Given the description of an element on the screen output the (x, y) to click on. 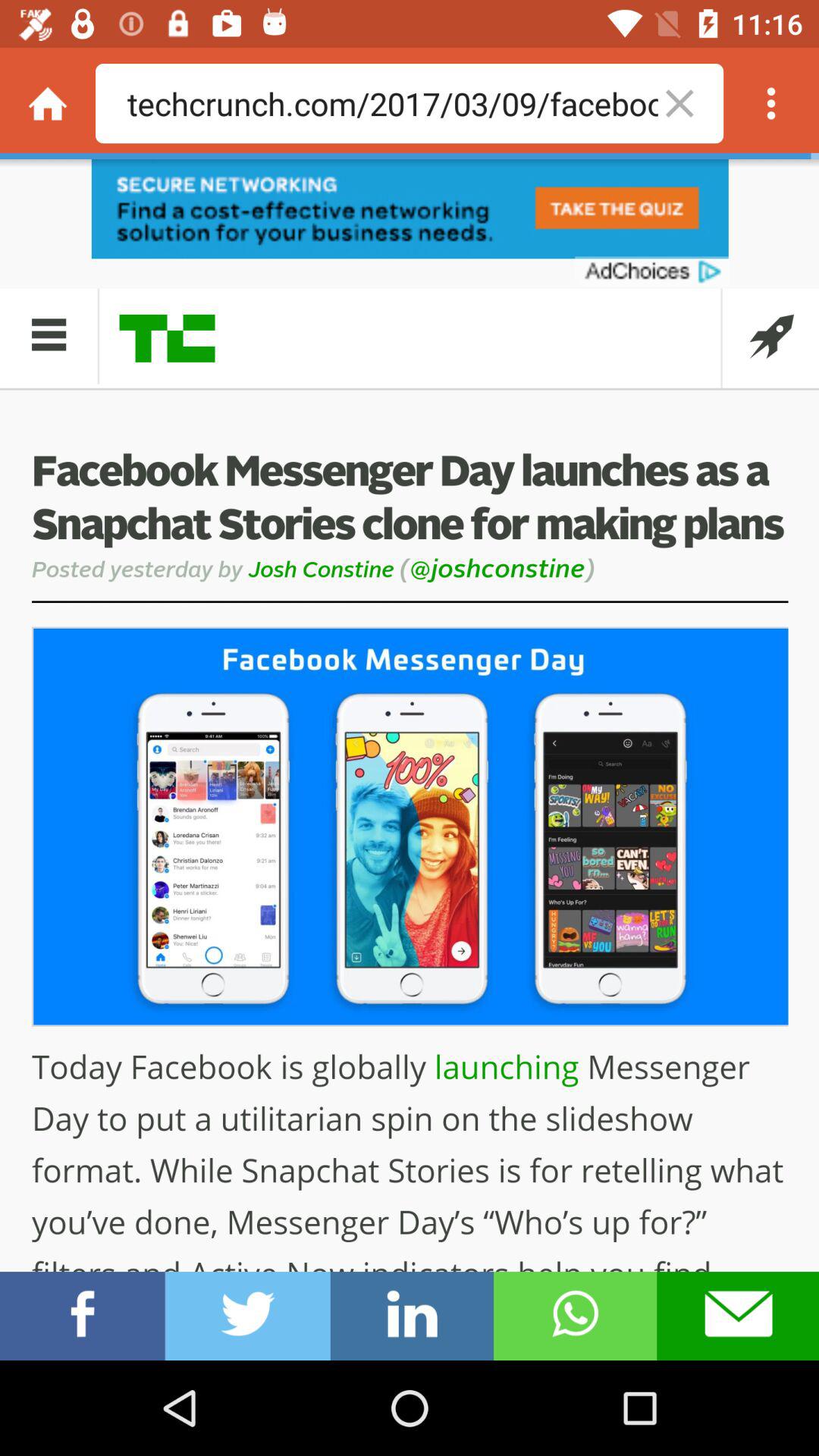
go to home page (47, 103)
